Given the description of an element on the screen output the (x, y) to click on. 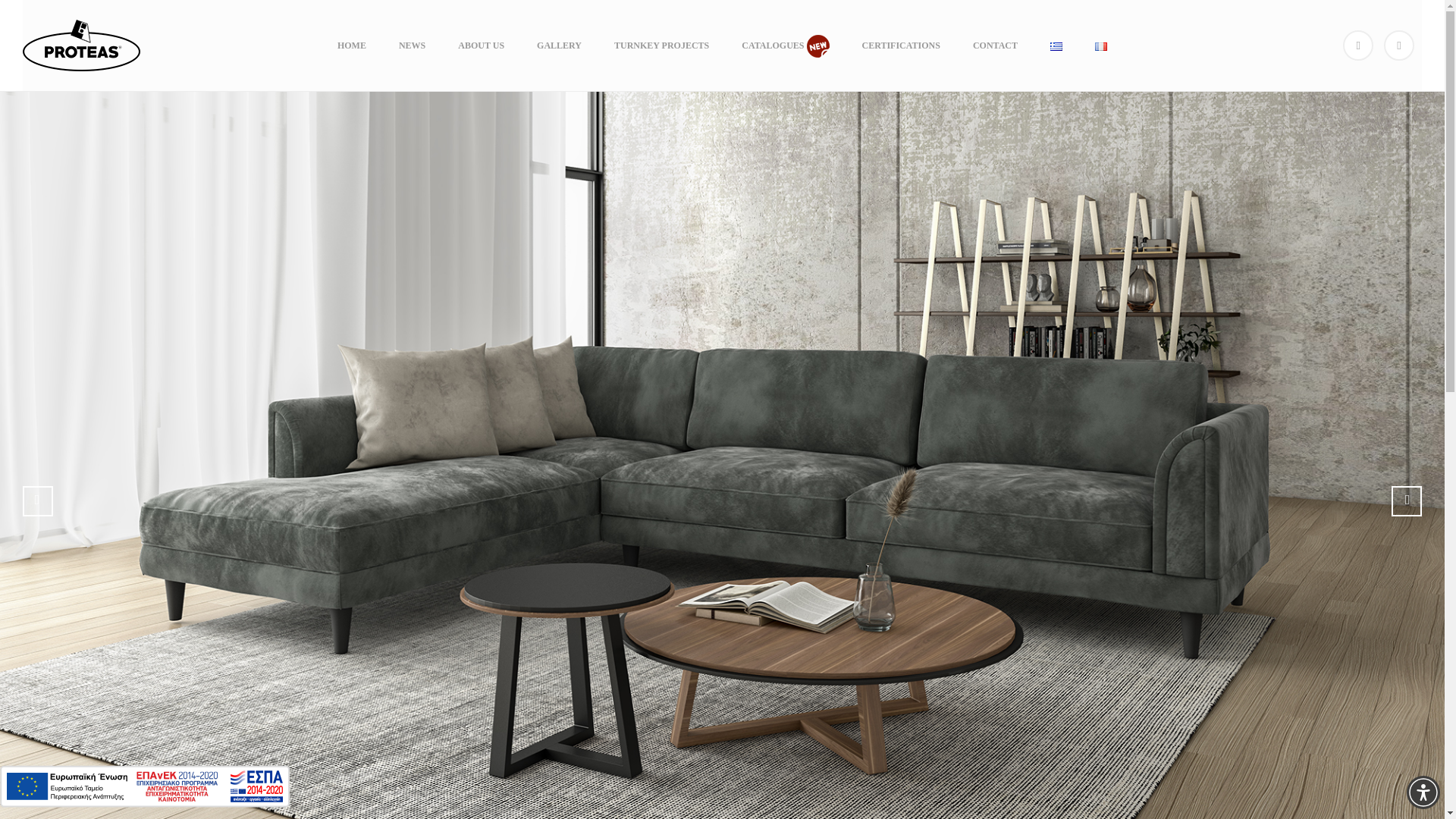
CERTIFICATIONS (901, 45)
TURNKEY PROJECTS (660, 45)
CATALOGUES  (785, 45)
Accessibility Menu (1422, 792)
